Given the description of an element on the screen output the (x, y) to click on. 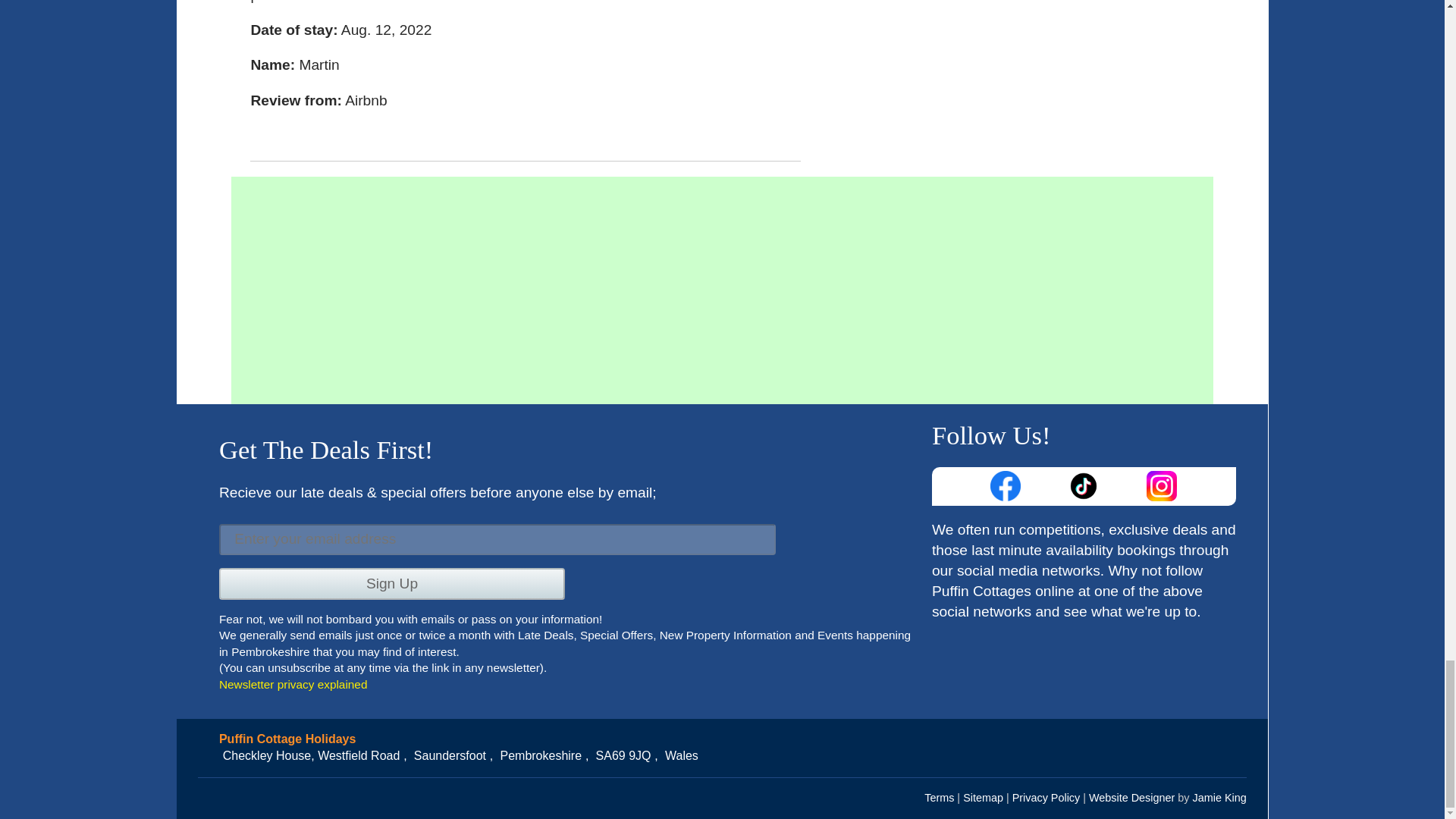
Find us on TikTok (1083, 485)
Privacy Policy Notice (1045, 797)
Sign Up (391, 583)
Find us on Facebook (1006, 485)
Website Sitemap (982, 797)
Facebook (1006, 485)
TikTok (1083, 485)
Follow us on Instagram (1162, 485)
Instagram (1162, 485)
Newsletter privacy policy (293, 684)
Puffin Holiday Cottages Pembrokeshire (722, 739)
